Given the description of an element on the screen output the (x, y) to click on. 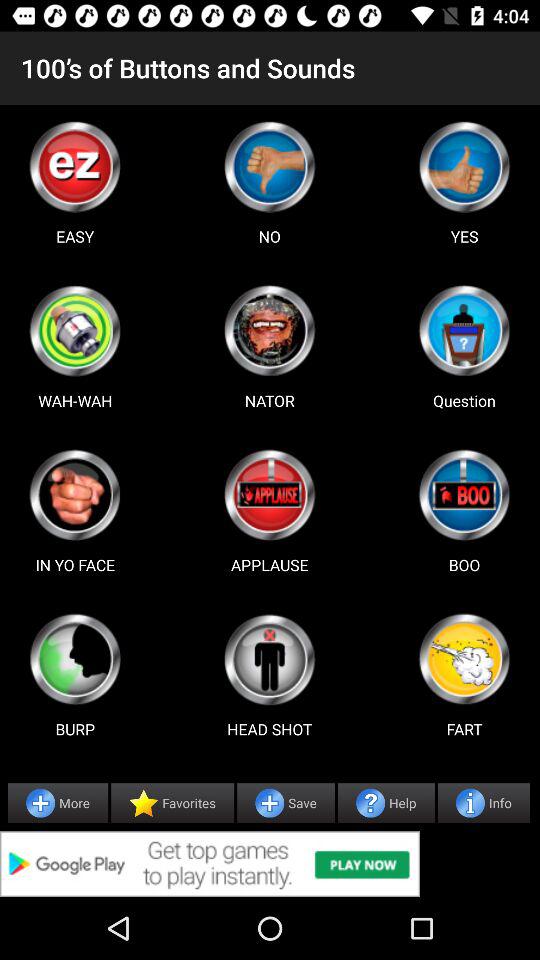
tag option (75, 495)
